Given the description of an element on the screen output the (x, y) to click on. 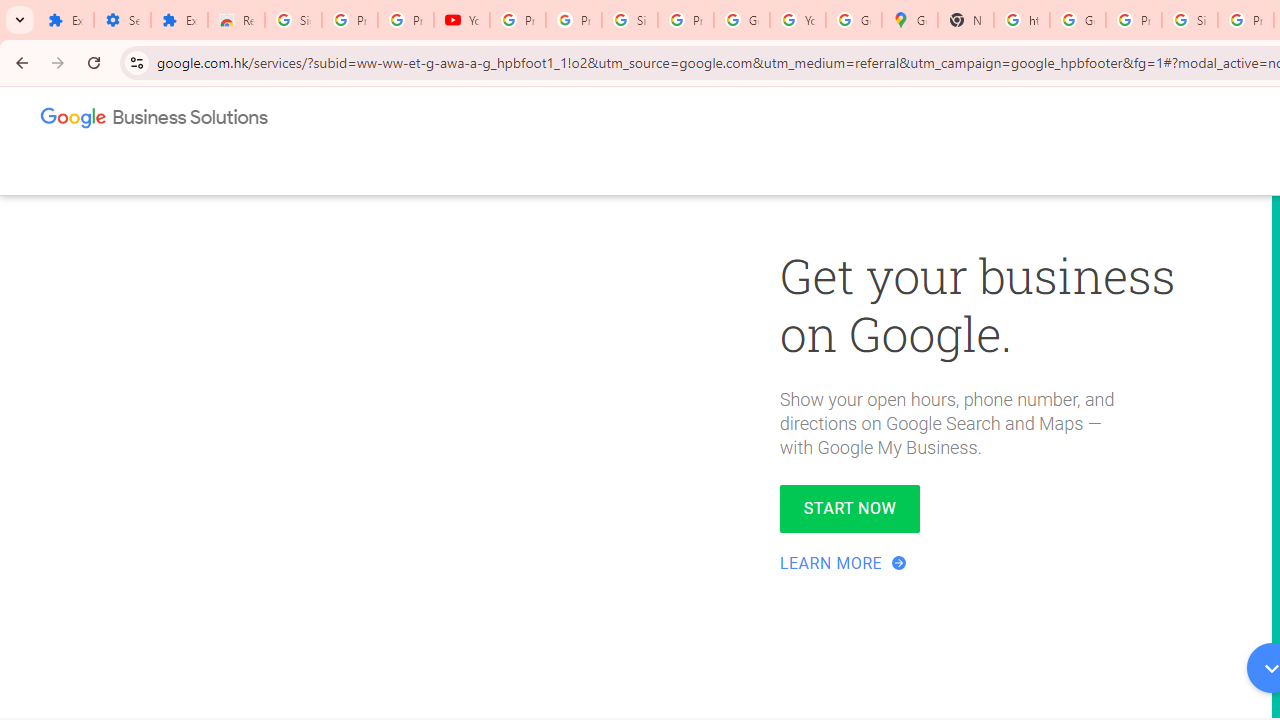
YouTube (461, 20)
Extensions (65, 20)
New Tab (966, 20)
LEARN MORE  (845, 563)
Sign in - Google Accounts (629, 20)
Google Account (742, 20)
Google Maps (909, 20)
